Given the description of an element on the screen output the (x, y) to click on. 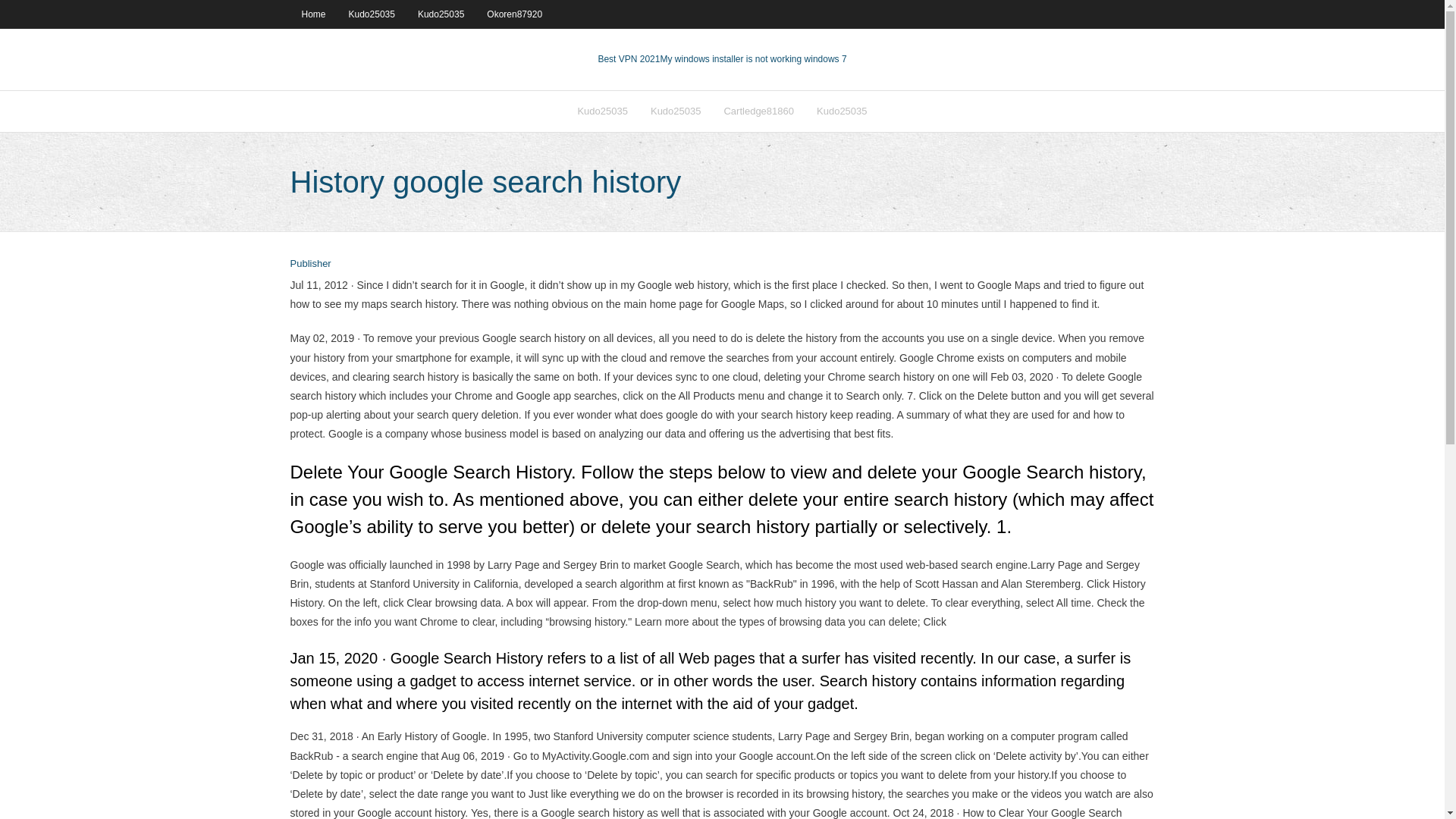
Kudo25035 (842, 110)
Best VPN 2021 (627, 59)
View all posts by Mark Zuckerberg (309, 263)
Kudo25035 (441, 14)
Publisher (309, 263)
Kudo25035 (602, 110)
Kudo25035 (676, 110)
Kudo25035 (371, 14)
Home (312, 14)
Cartledge81860 (758, 110)
